Given the description of an element on the screen output the (x, y) to click on. 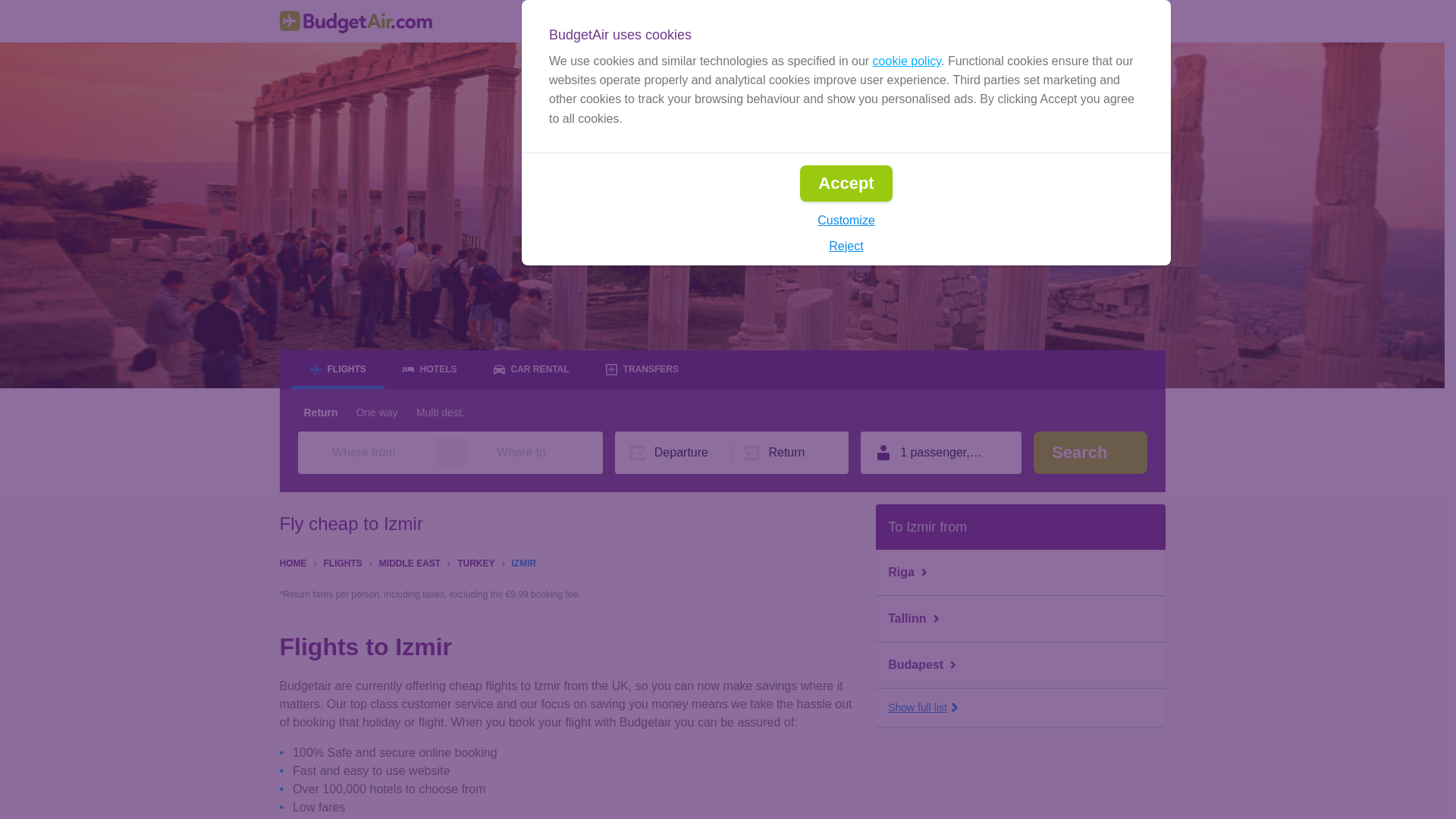
Accept (845, 183)
HOME (292, 562)
English (902, 21)
TURKEY (476, 562)
FLIGHTS (342, 562)
cookie policy (906, 60)
My Account (1116, 21)
Search (1090, 452)
MIDDLE EAST (409, 562)
